Given the description of an element on the screen output the (x, y) to click on. 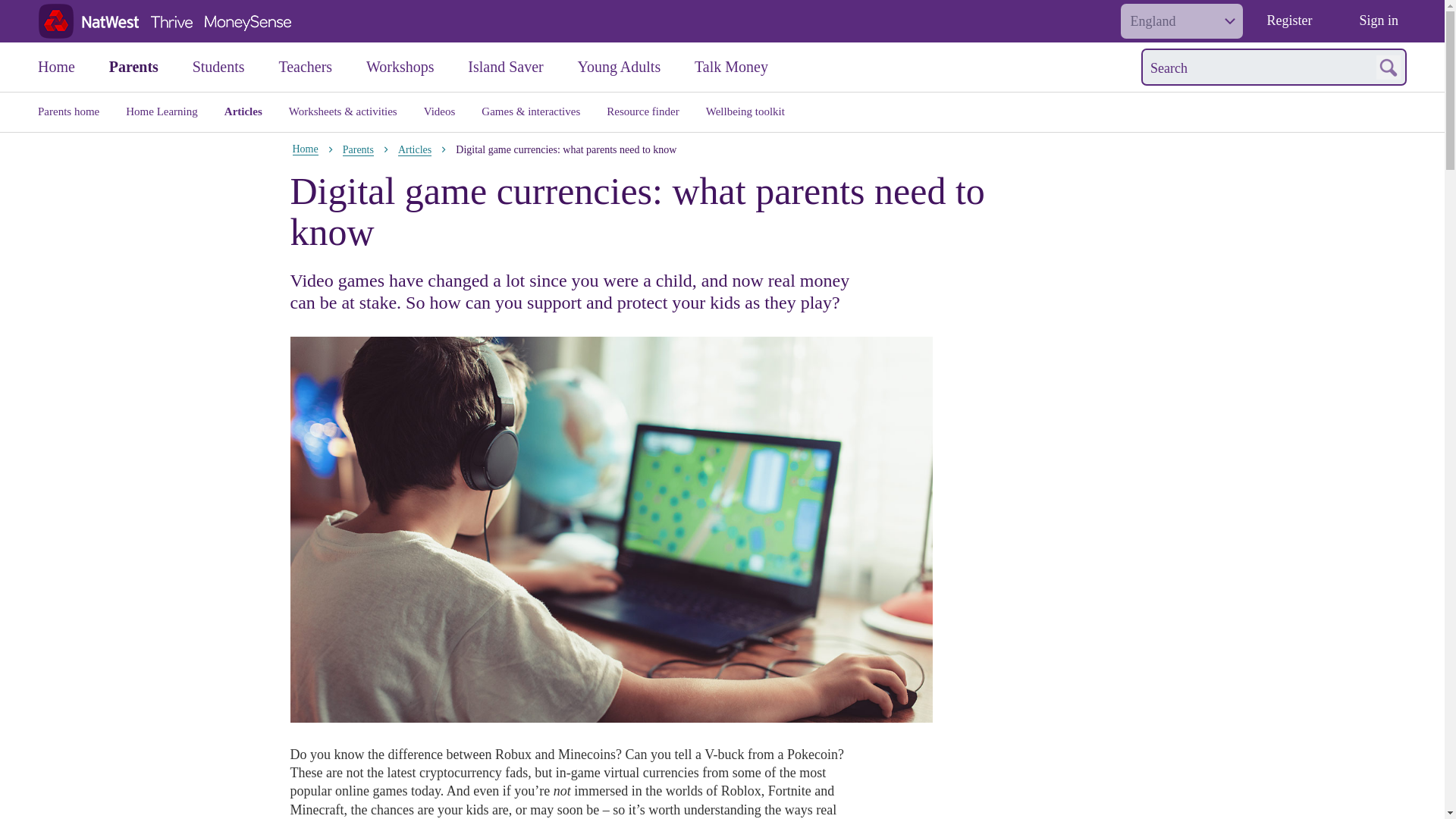
Talk Money (748, 67)
Home (73, 67)
Island Saver (521, 67)
Register (1288, 21)
Students (235, 67)
Workshops (416, 67)
Teachers (322, 67)
Sign in (1378, 21)
